Given the description of an element on the screen output the (x, y) to click on. 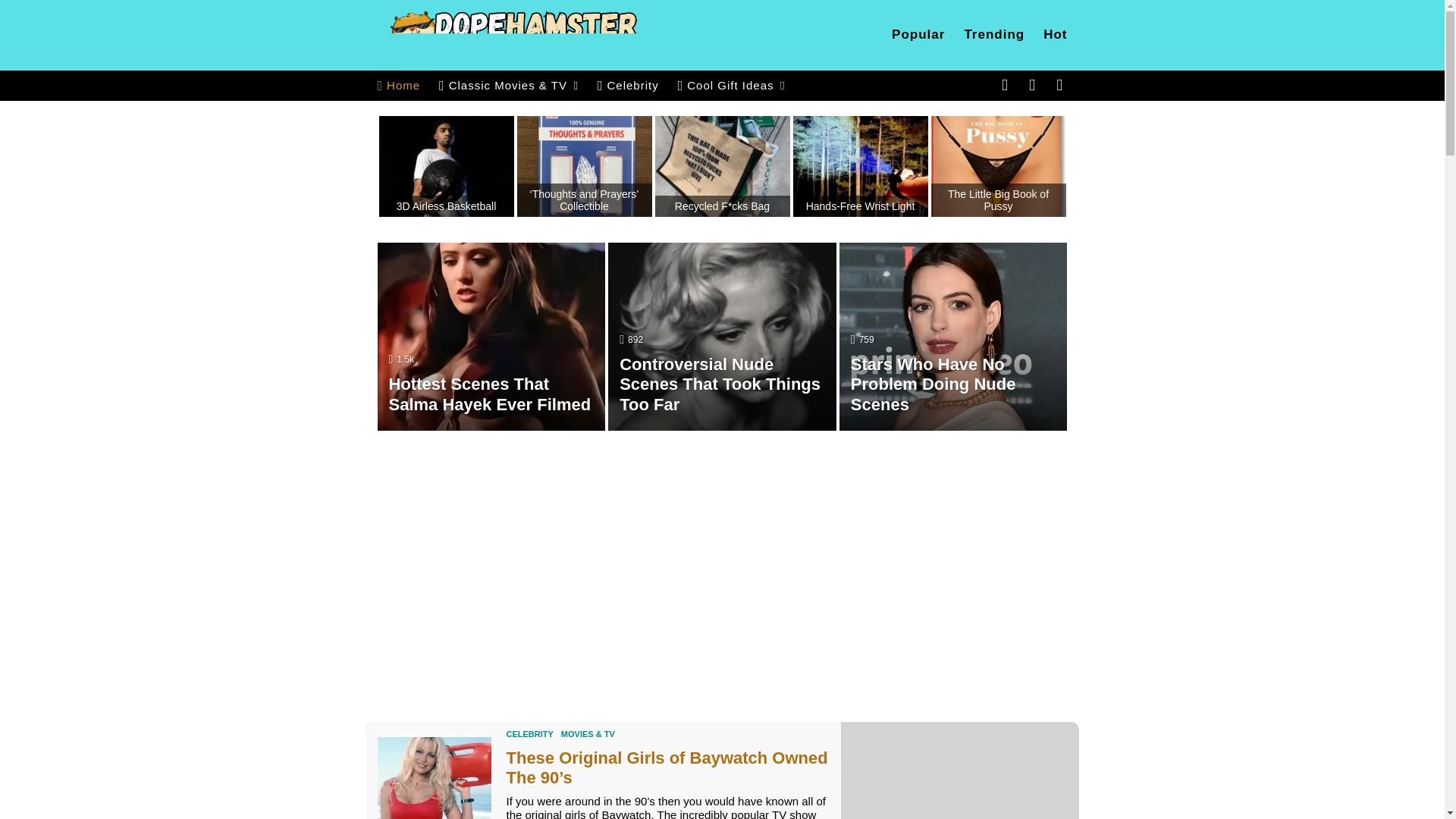
Cool Gift Ideas (732, 85)
Popular (917, 34)
Home (398, 85)
Celebrity (627, 85)
Trending (994, 34)
